Given the description of an element on the screen output the (x, y) to click on. 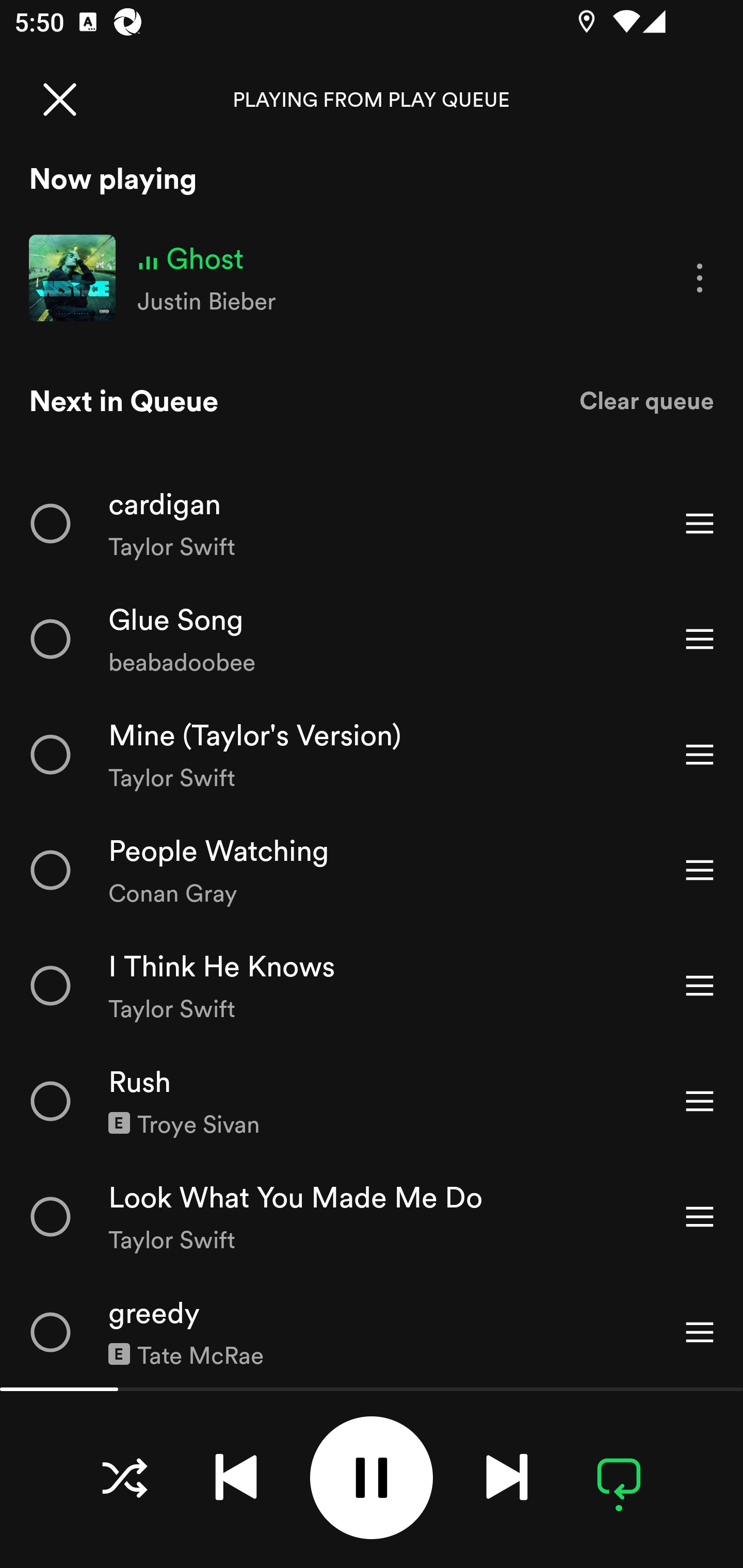
Close (59, 99)
PLAYING FROM PLAY QUEUE (371, 99)
More options for song Ghost (699, 278)
Clear queue (646, 400)
cardigan Taylor Swift Reorder track (371, 523)
Glue Song beabadoobee Reorder track (371, 638)
Mine (Taylor's Version) Taylor Swift Reorder track (371, 754)
People Watching Conan Gray Reorder track (371, 870)
I Think He Knows Taylor Swift Reorder track (371, 985)
Rush Explicit Troye Sivan Reorder track (371, 1100)
greedy Explicit Tate McRae Reorder track (371, 1330)
Pause (371, 1477)
Previous (235, 1477)
Next (507, 1477)
Choose a Listening Mode (123, 1477)
Repeat (618, 1477)
